Given the description of an element on the screen output the (x, y) to click on. 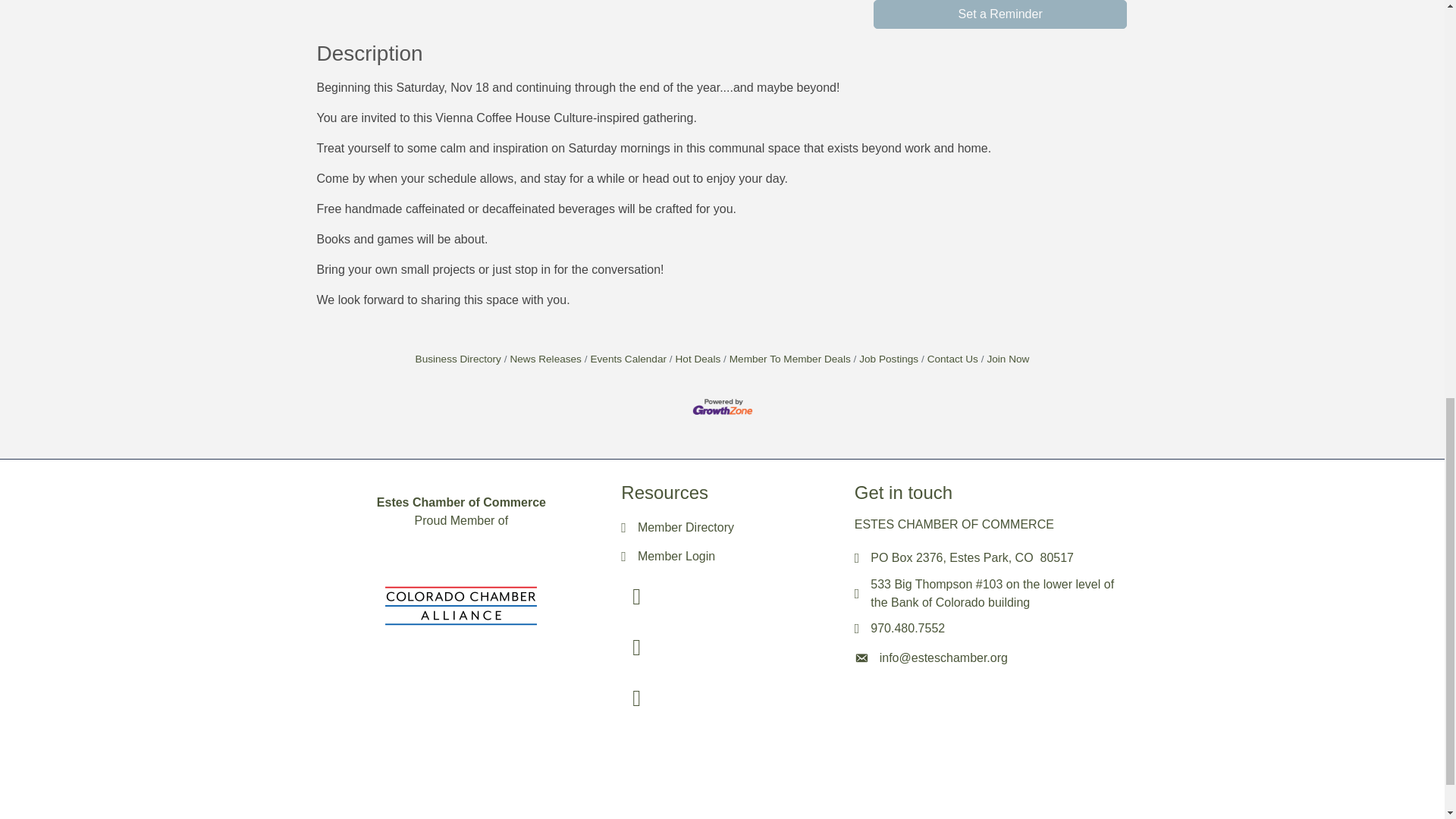
Colorado Chamber Alliance (461, 605)
